Given the description of an element on the screen output the (x, y) to click on. 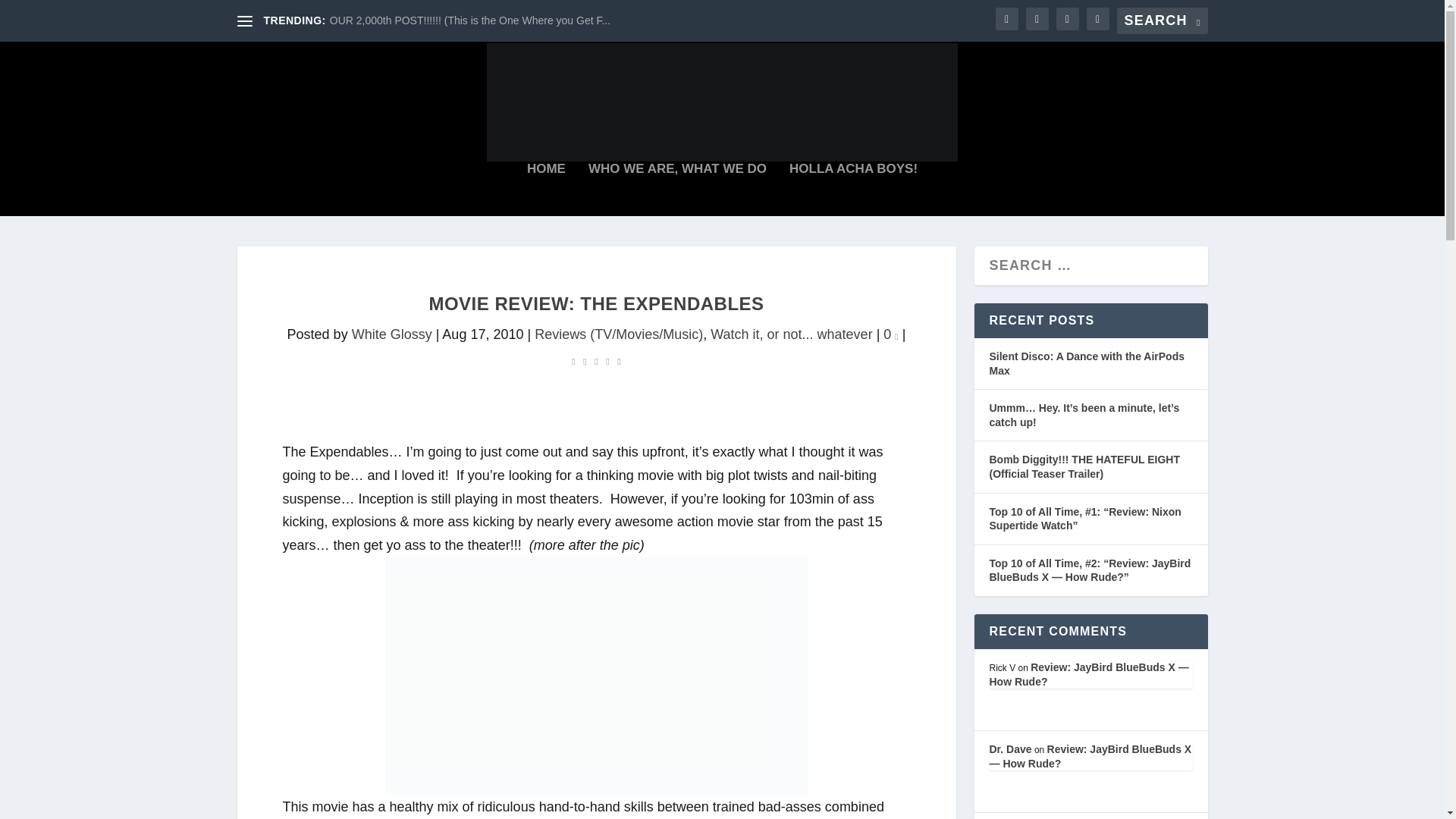
Watch it, or not... whatever (791, 334)
Search for: (1161, 20)
Rating: 0.00 (596, 360)
White Glossy (392, 334)
Posts by White Glossy (392, 334)
HOLLA ACHA BOYS! (853, 189)
0 (890, 334)
WHO WE ARE, WHAT WE DO (677, 189)
